Given the description of an element on the screen output the (x, y) to click on. 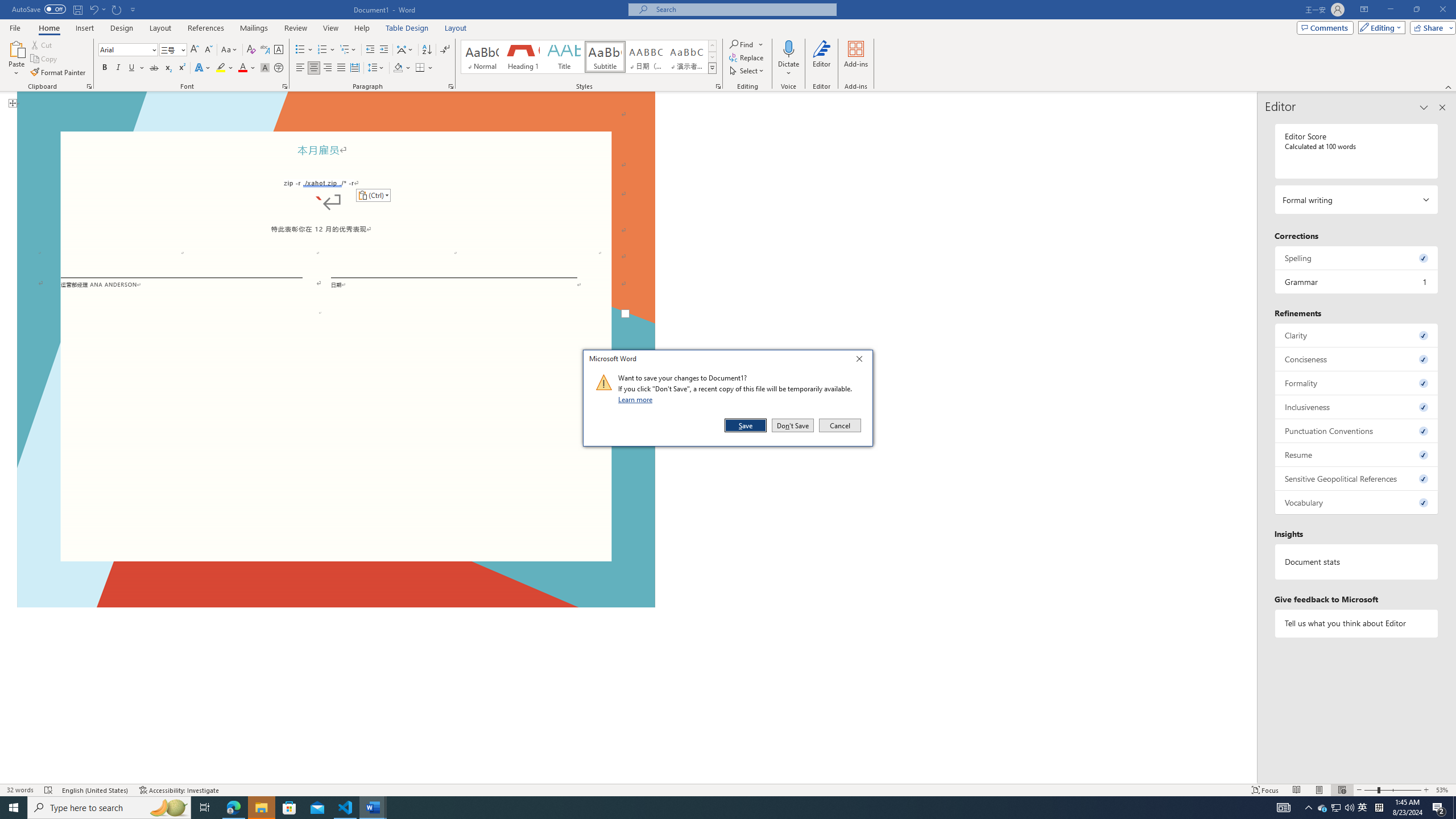
Task Pane Options (1423, 107)
AutomationID: 4105 (1283, 807)
Italic (118, 67)
Shrink Font (208, 49)
Focus  (1265, 790)
Action Center, 2 new notifications (1439, 807)
Mailings (253, 28)
Shading RGB(0, 0, 0) (397, 67)
Numbering (326, 49)
Zoom Out (1362, 807)
Class: NetUIImage (1370, 790)
